Given the description of an element on the screen output the (x, y) to click on. 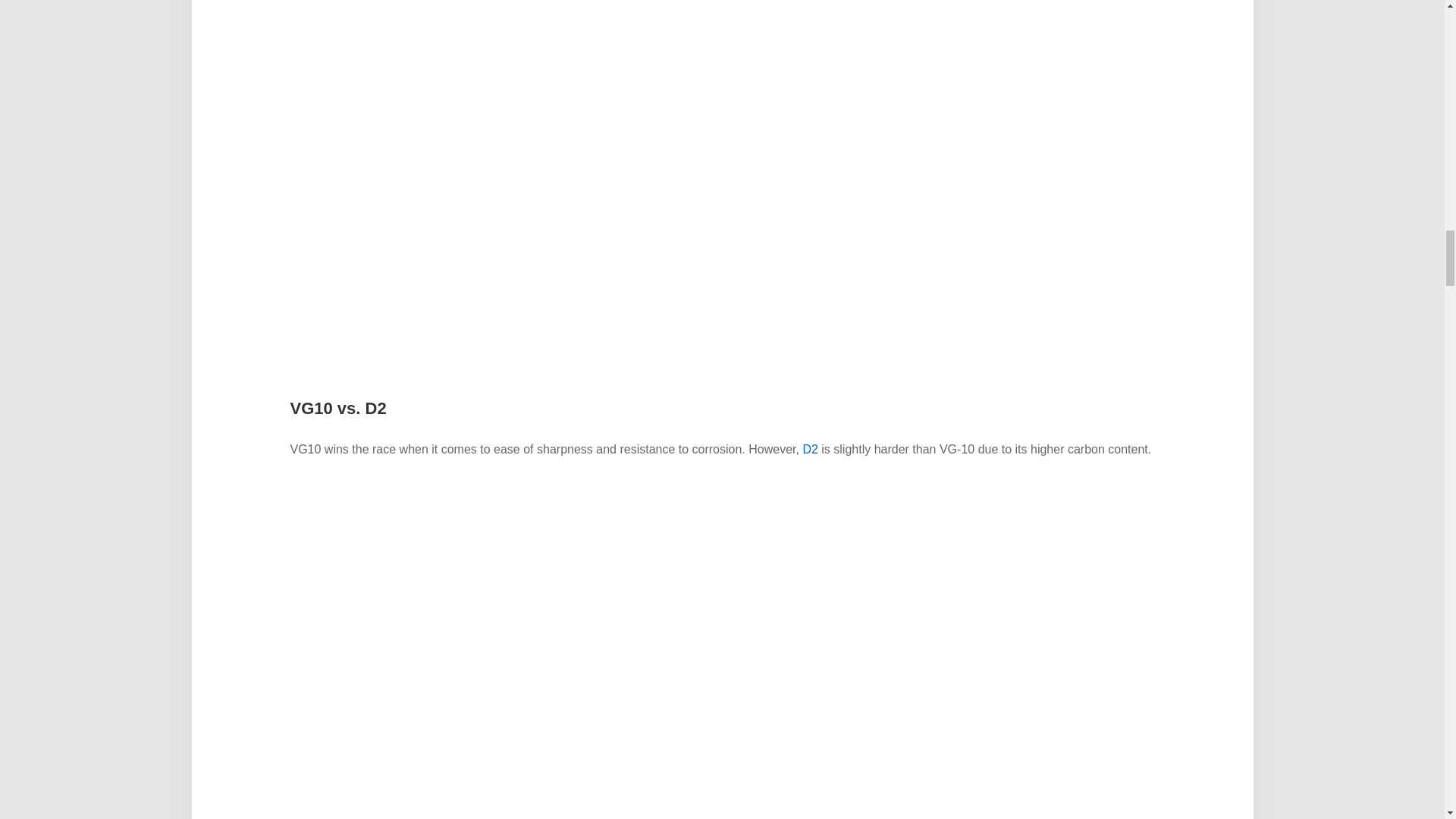
D2 (809, 449)
